Given the description of an element on the screen output the (x, y) to click on. 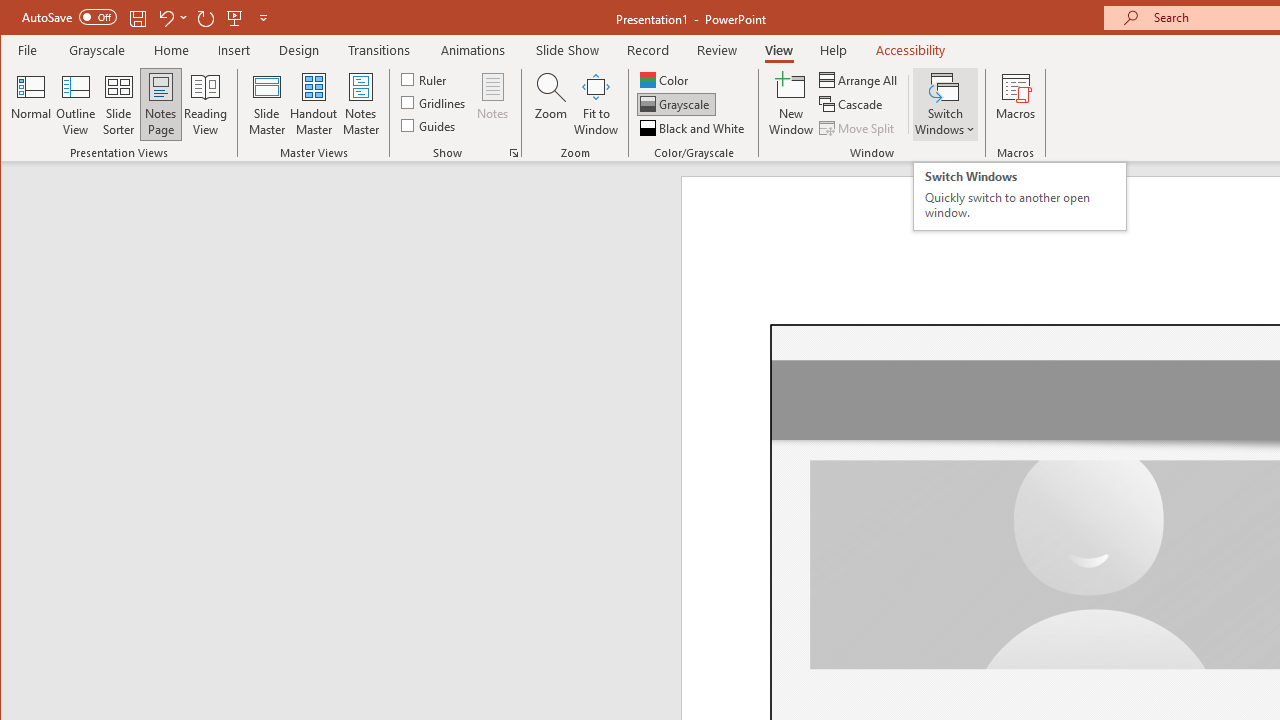
Notes Page (160, 104)
Grayscale (676, 103)
Outline View (75, 104)
